Given the description of an element on the screen output the (x, y) to click on. 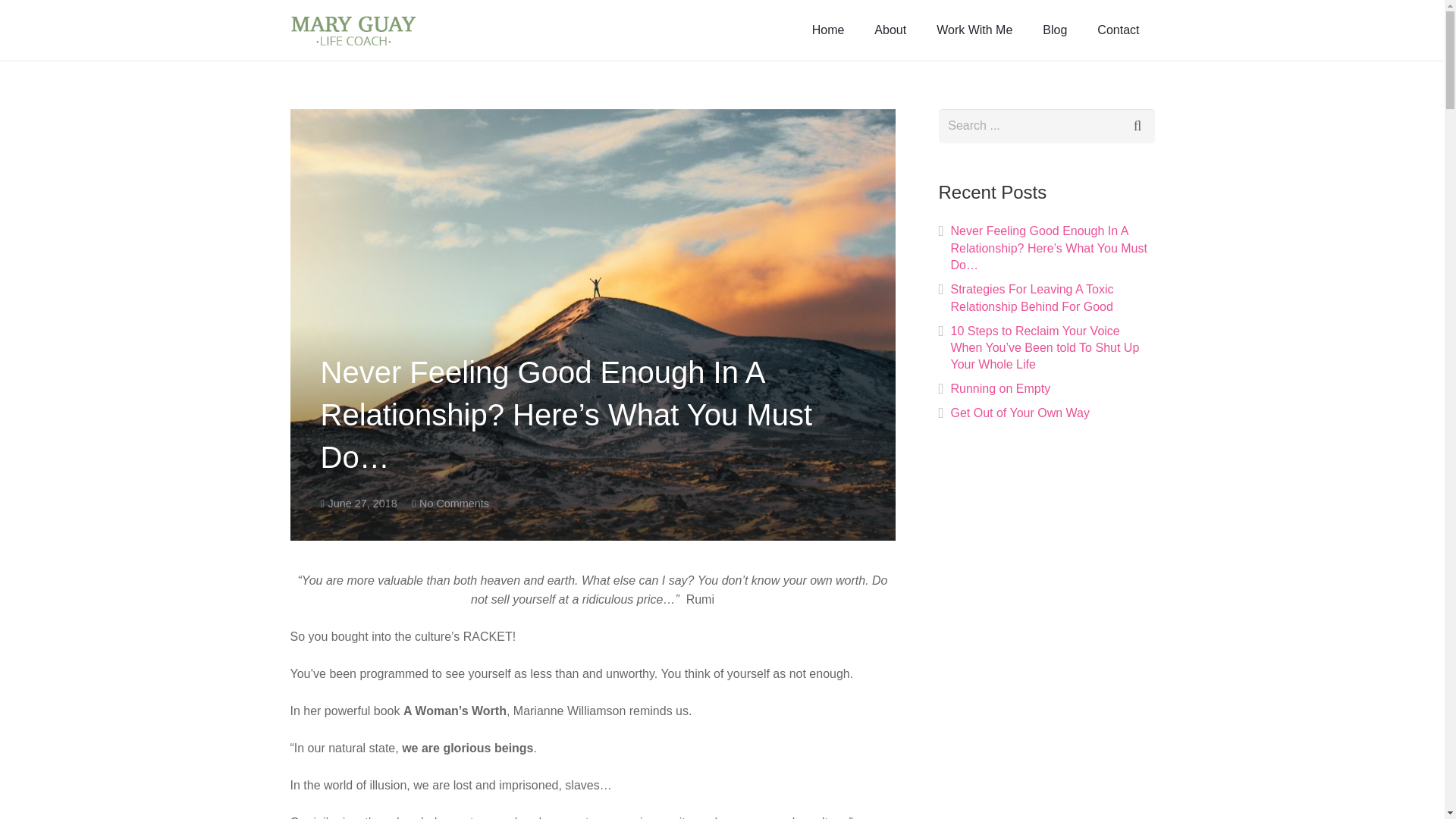
Blog (1054, 30)
Home (828, 30)
Work With Me (974, 30)
No Comments (454, 503)
Strategies For Leaving A Toxic Relationship Behind For Good (1031, 297)
Get Out of Your Own Way (1020, 412)
About (890, 30)
Contact (1117, 30)
Running on Empty (1000, 388)
